Given the description of an element on the screen output the (x, y) to click on. 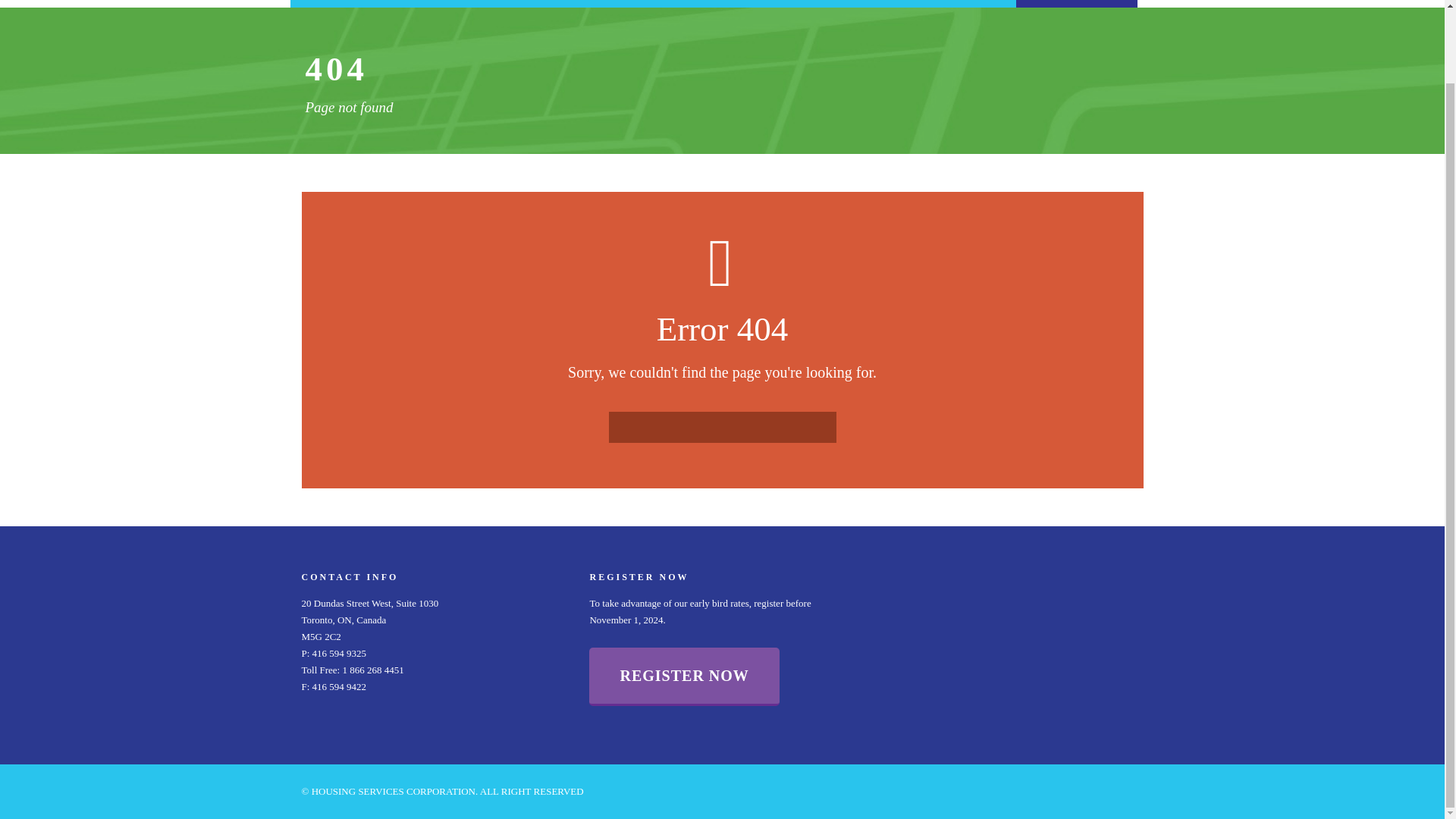
SPEAKERS (713, 3)
REGISTER NOW (683, 676)
AGENDA BY DAY (592, 3)
PRICING (955, 3)
HOME (349, 3)
SPONSORS (834, 3)
REGISTER NOW (1076, 3)
THE FORUM (471, 3)
